Given the description of an element on the screen output the (x, y) to click on. 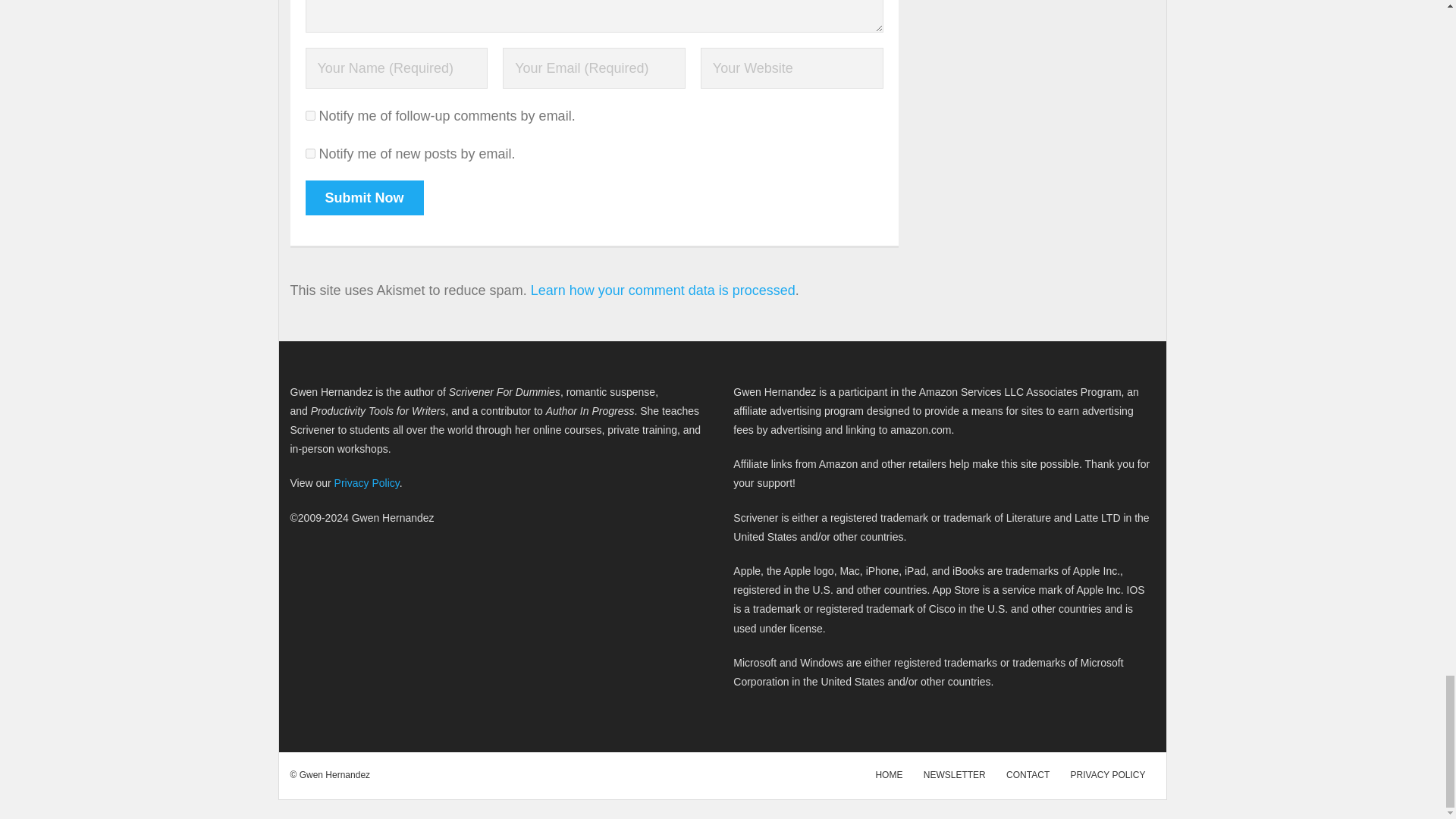
subscribe (309, 153)
subscribe (309, 115)
Submit Now (363, 197)
